Given the description of an element on the screen output the (x, y) to click on. 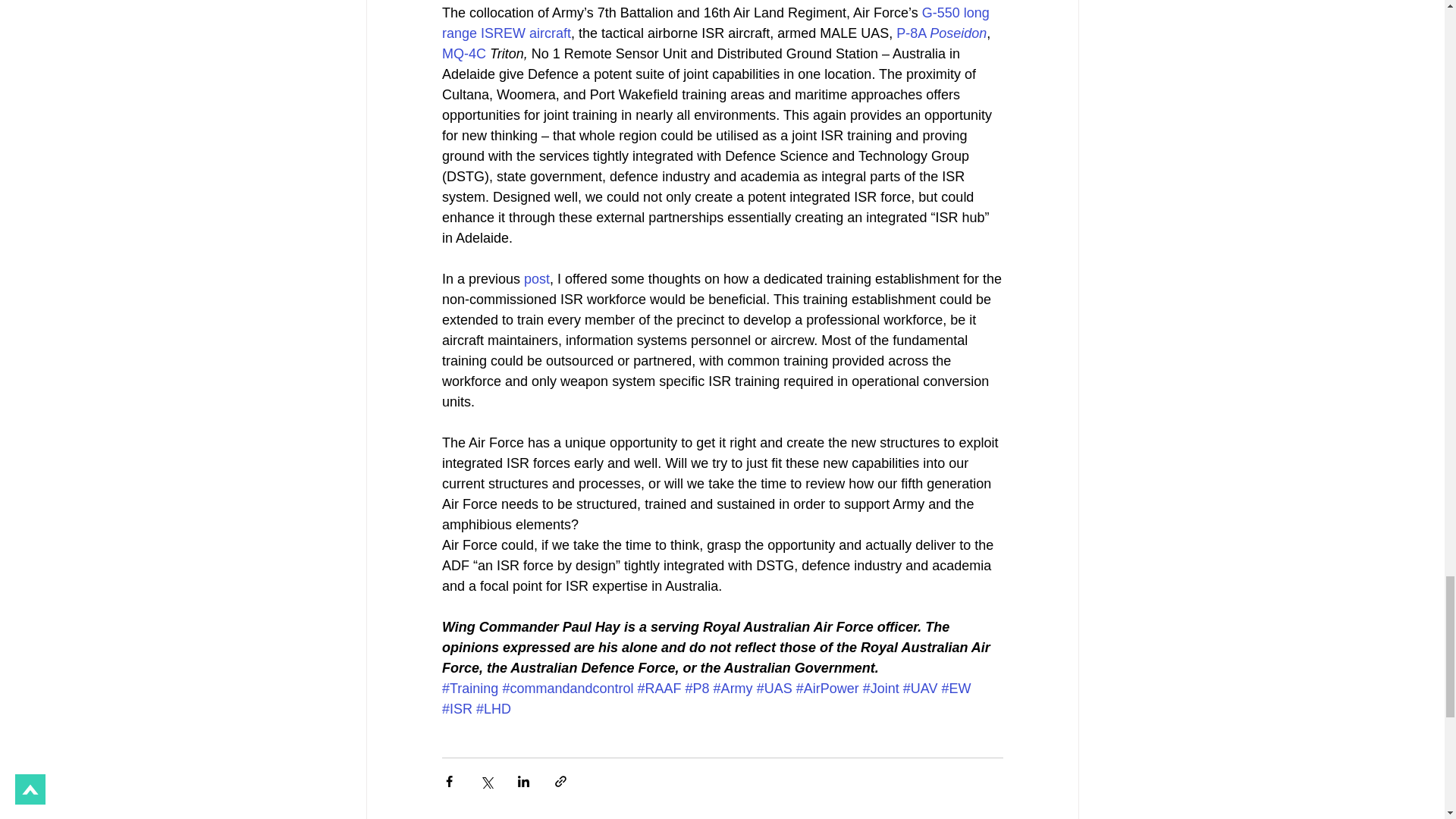
MQ-4C  (465, 53)
P-8A  (913, 32)
Poseidon (958, 32)
post (537, 278)
G-550 long range ISREW aircraft (716, 22)
